Given the description of an element on the screen output the (x, y) to click on. 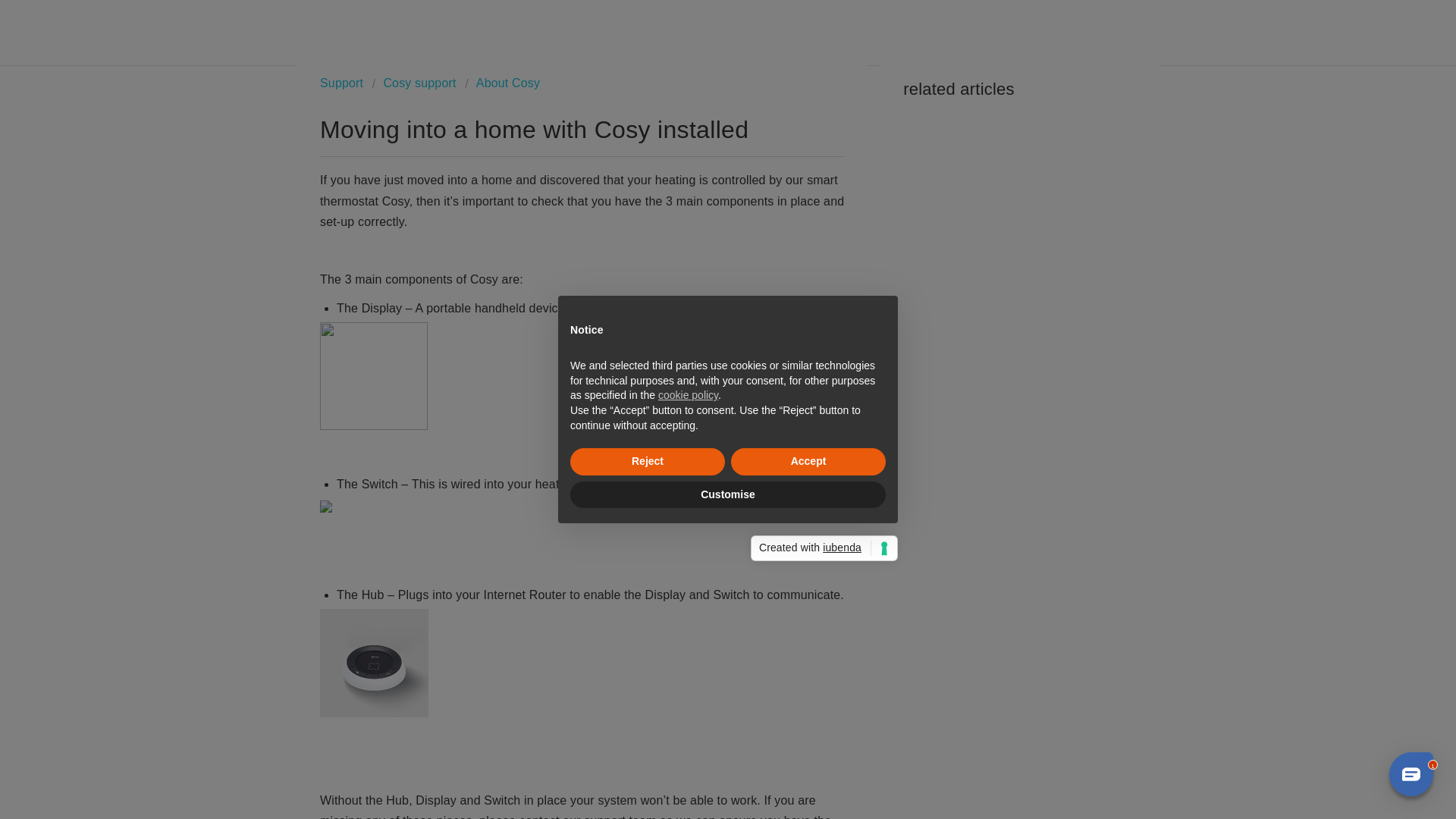
iubenda - Cookie Policy and Cookie Compliance Management (824, 548)
Created with iubenda (824, 548)
Reject (647, 461)
About Cosy (502, 82)
cookie policy (687, 395)
Accept (807, 461)
Support (341, 82)
Customise (727, 494)
Cosy support (416, 82)
